Given the description of an element on the screen output the (x, y) to click on. 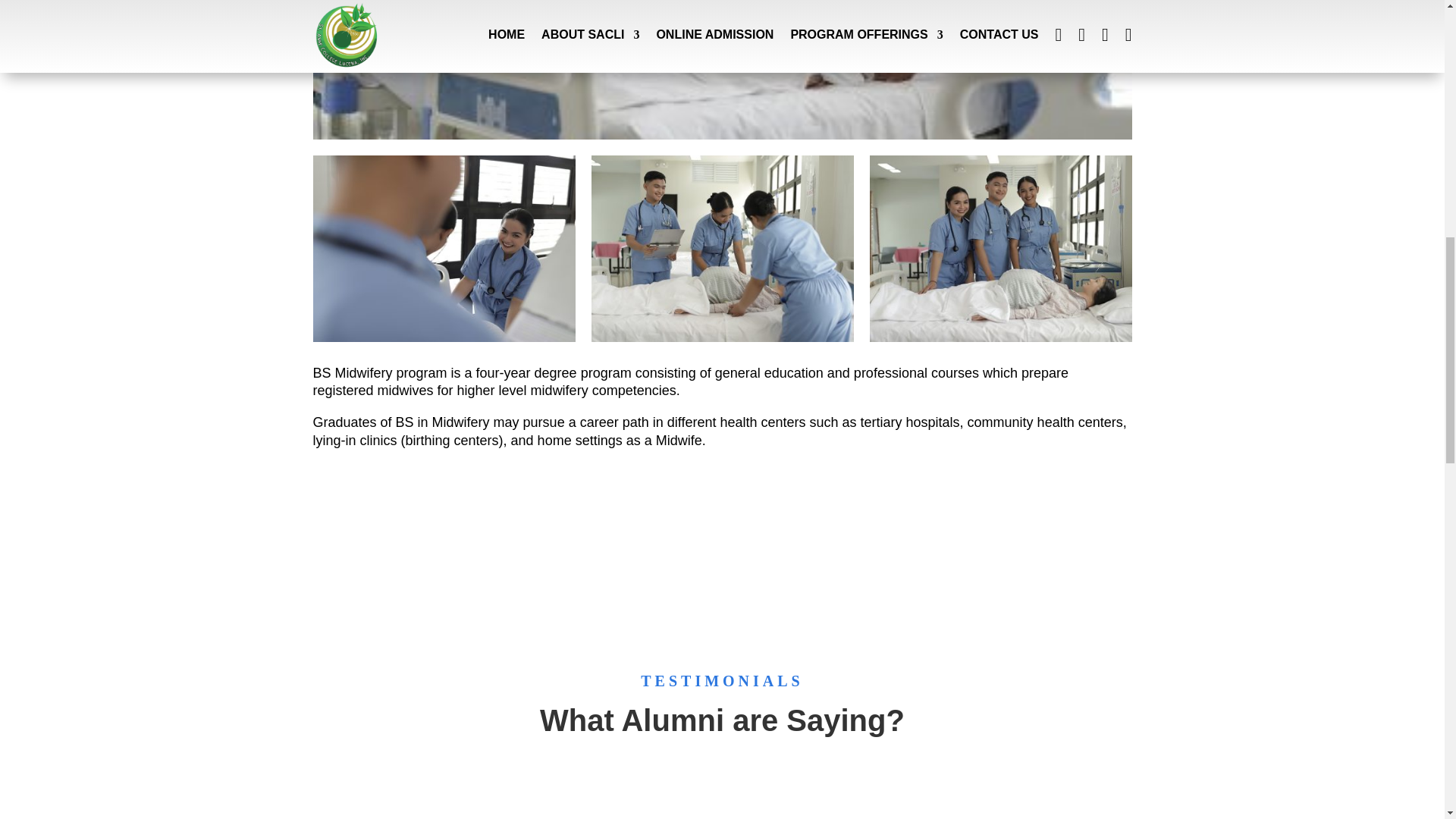
bs midwifery slider 2 (722, 135)
bs midwifery slider 4 (1000, 337)
bs midwifery slider (444, 337)
bs midwifery slider 3 (722, 337)
